Given the description of an element on the screen output the (x, y) to click on. 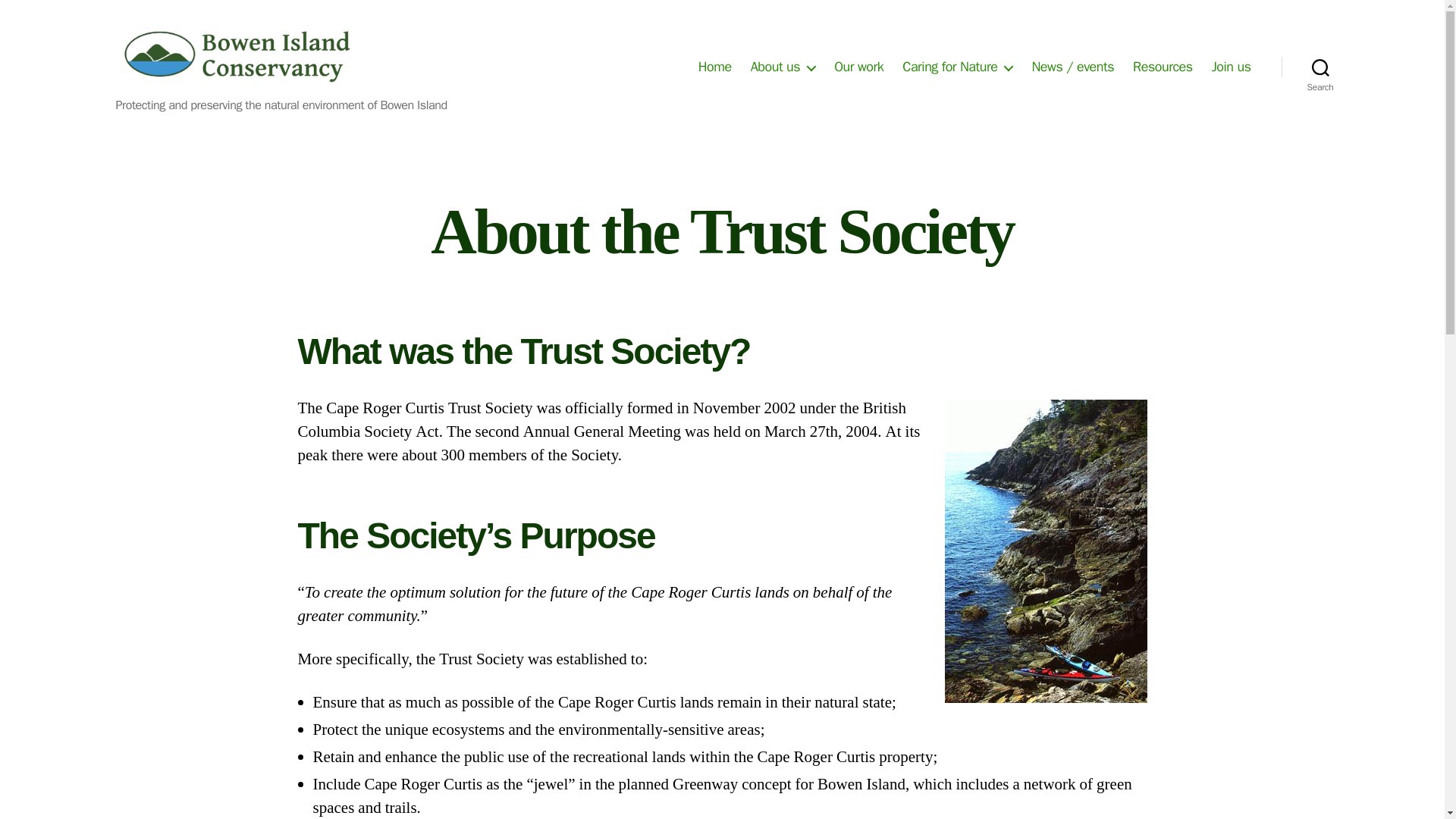
About us (783, 67)
Home (715, 67)
Search (1320, 67)
Resources (1162, 67)
Caring for Nature (956, 67)
Join us (1230, 67)
Our work (858, 67)
